Given the description of an element on the screen output the (x, y) to click on. 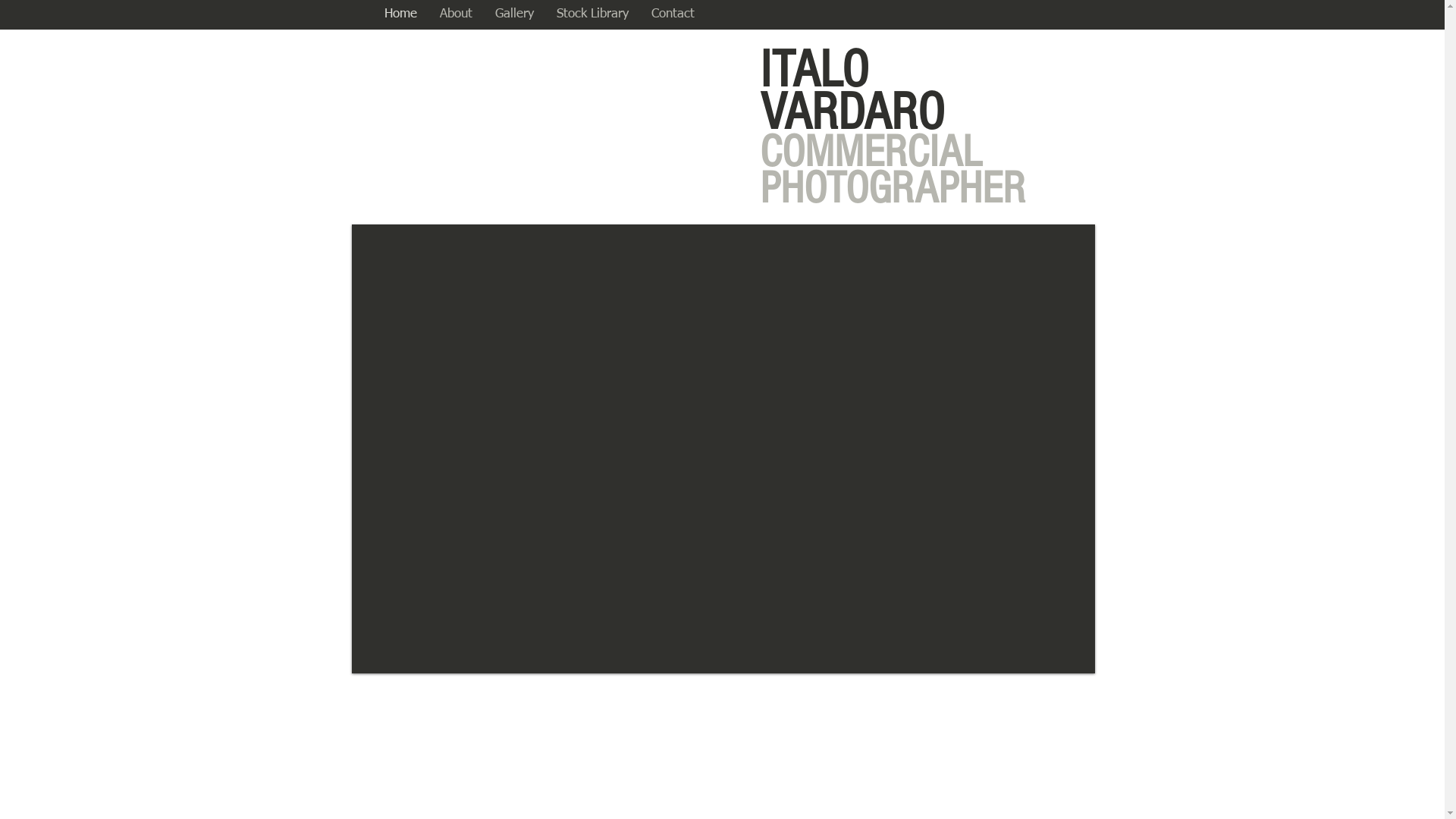
Gallery Element type: text (514, 14)
About Element type: text (455, 14)
Contact Element type: text (673, 14)
Stock Library Element type: text (591, 14)
Home Element type: text (400, 14)
